Given the description of an element on the screen output the (x, y) to click on. 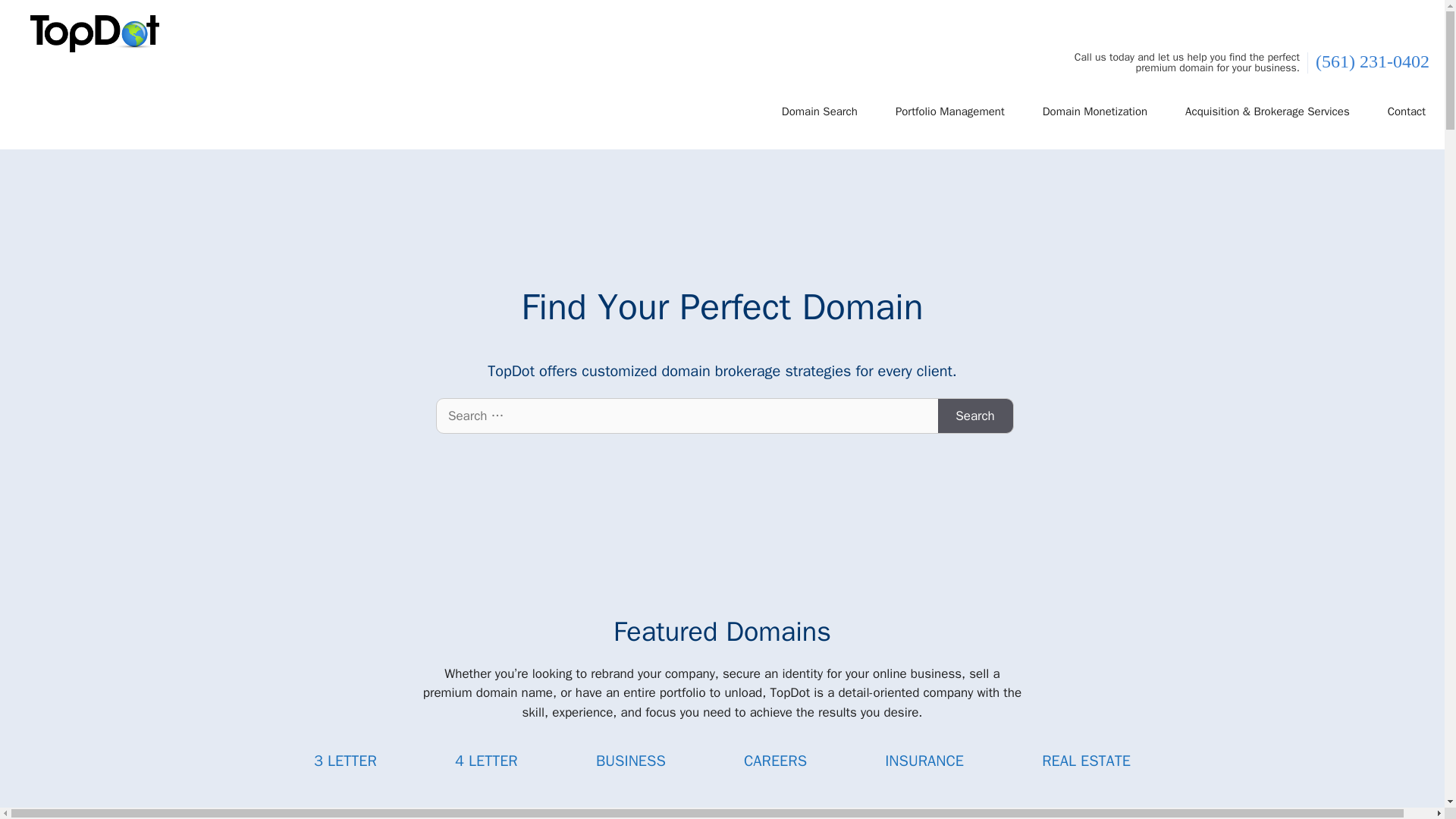
BUSINESS (630, 760)
REAL ESTATE (1086, 760)
INSURANCE (924, 760)
Domain Search (819, 111)
4 LETTER (486, 760)
Search (975, 416)
Contact (1407, 111)
Portfolio Management (950, 111)
Search (975, 416)
4 Letter (486, 760)
